Given the description of an element on the screen output the (x, y) to click on. 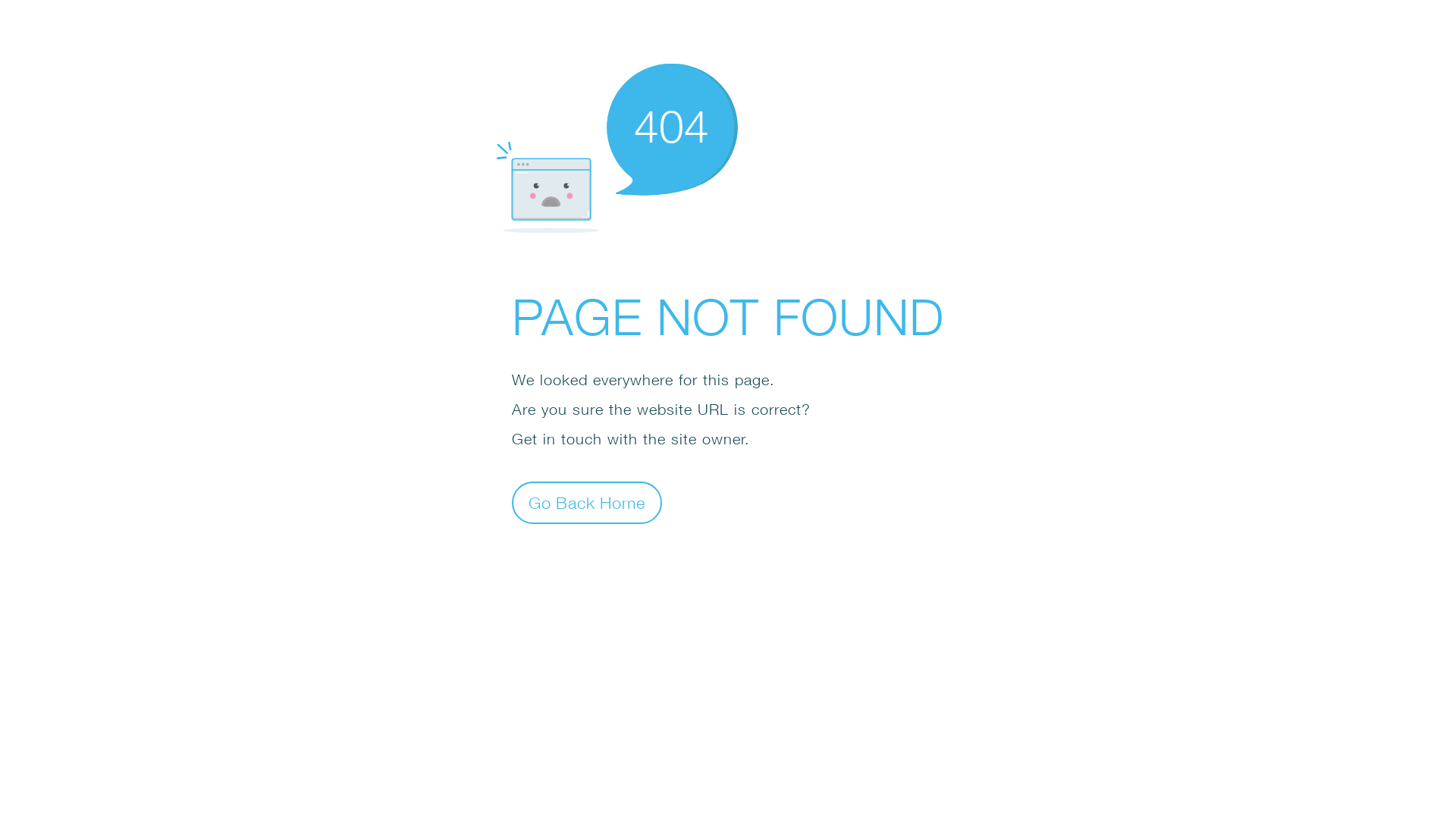
Go Back Home Element type: text (586, 502)
